Given the description of an element on the screen output the (x, y) to click on. 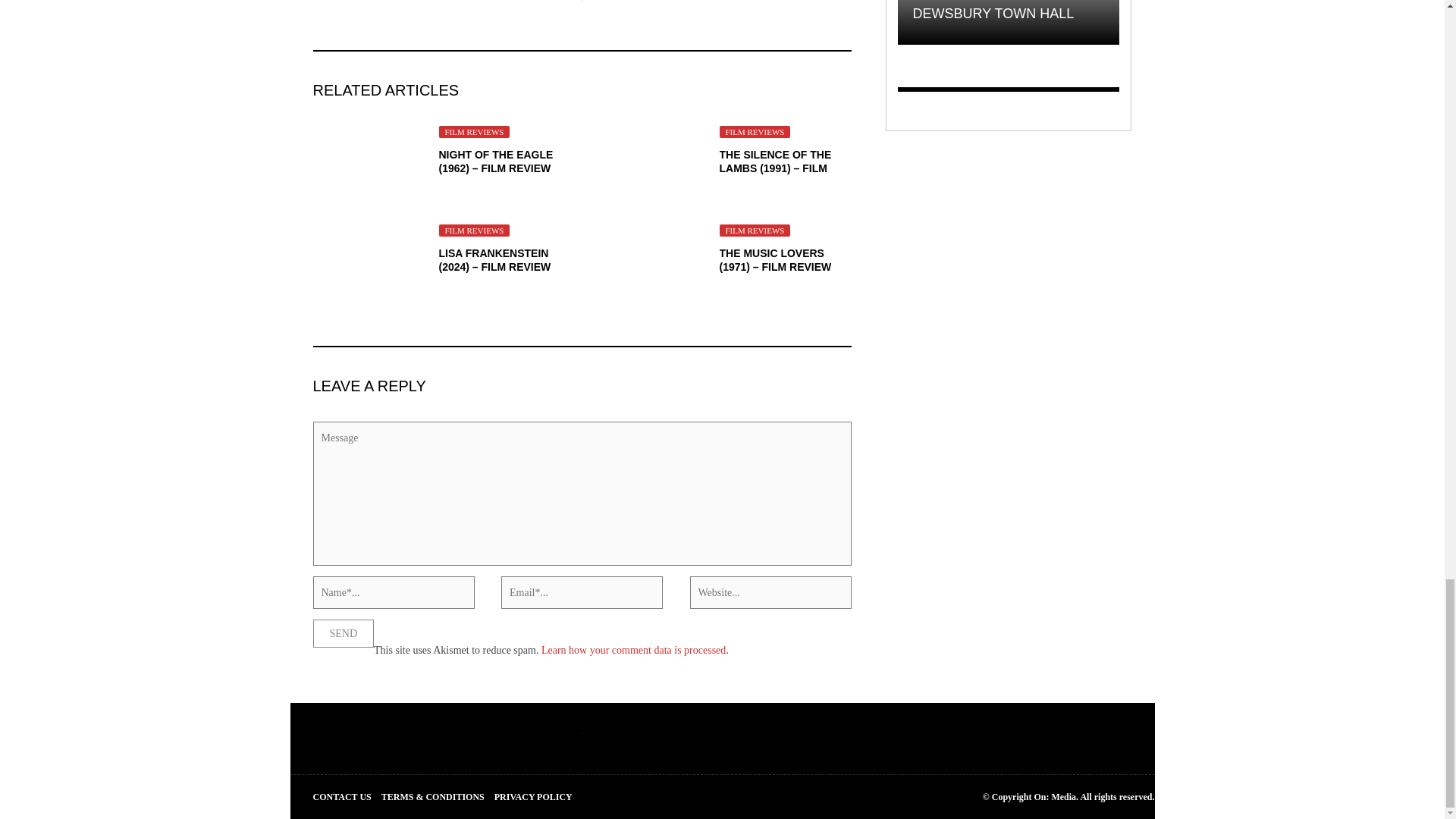
Send (343, 633)
